Given the description of an element on the screen output the (x, y) to click on. 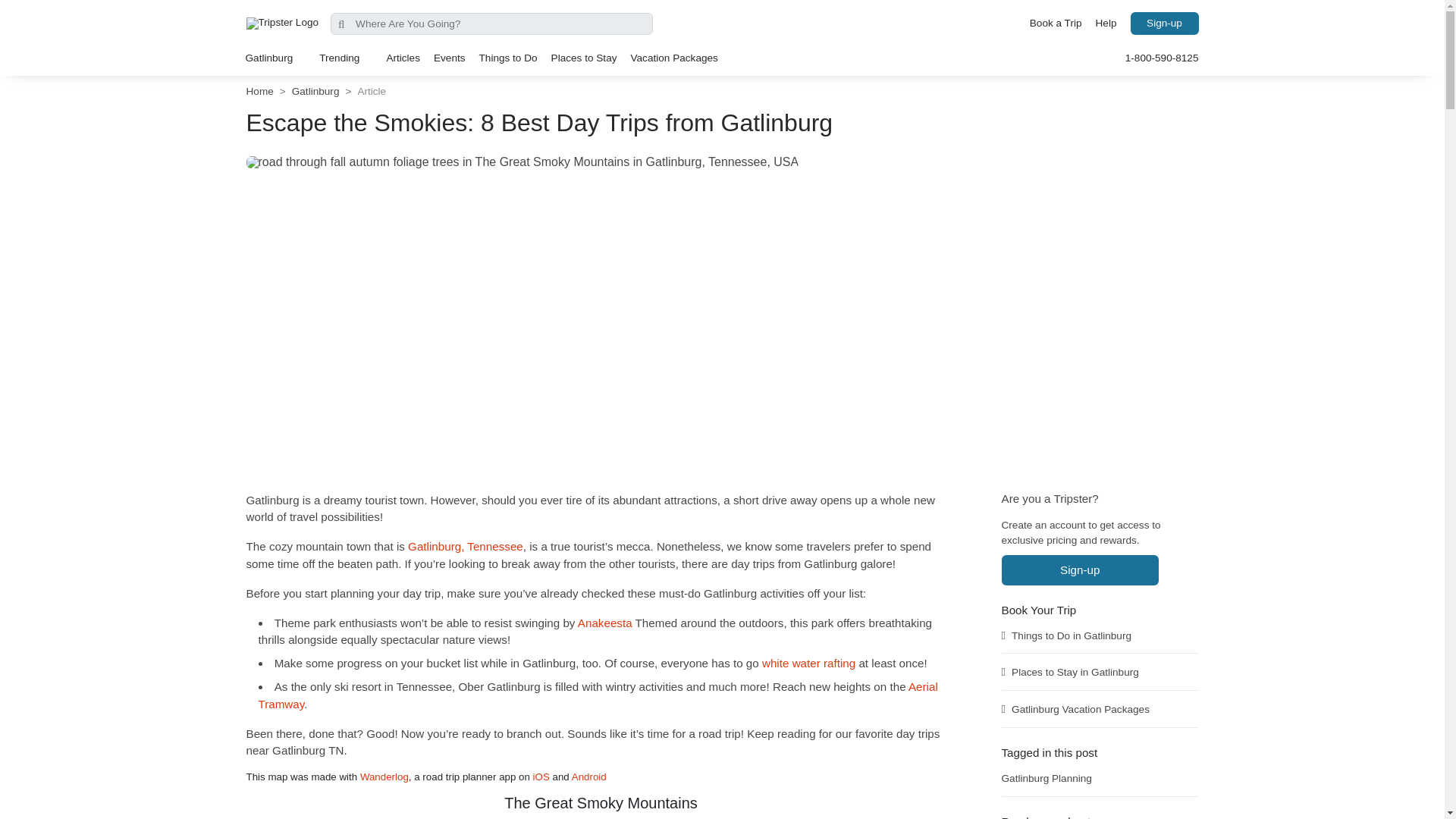
Sign-up (1163, 23)
Trending (345, 57)
Gatlinburg (275, 57)
Book a Trip (1056, 23)
Help (1106, 23)
